Given the description of an element on the screen output the (x, y) to click on. 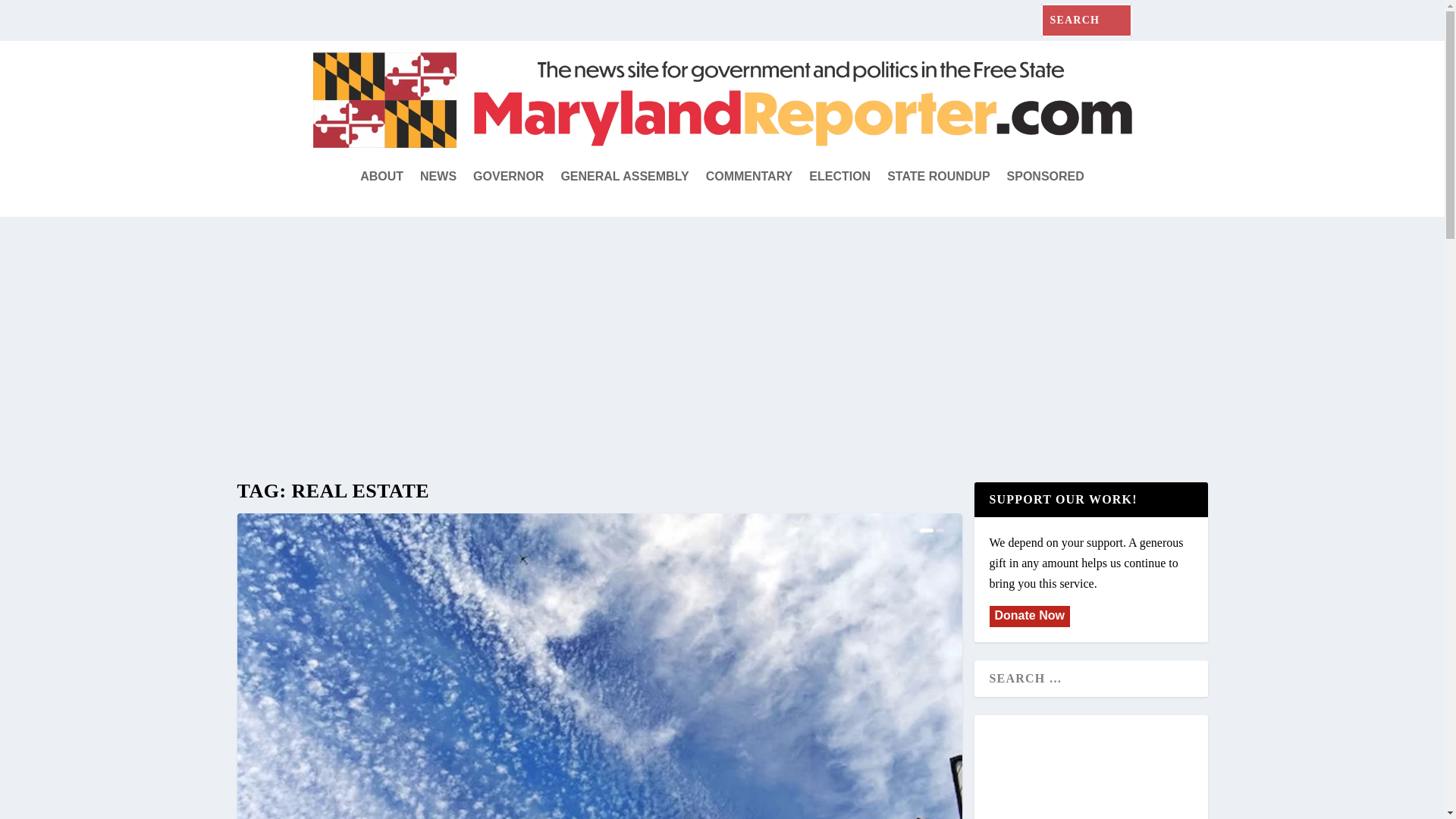
GOVERNOR (508, 176)
1 (925, 530)
GENERAL ASSEMBLY (624, 176)
SPONSORED (1045, 176)
Search (29, 16)
ABOUT (381, 176)
STATE ROUNDUP (938, 176)
ELECTION (839, 176)
NEWS (438, 176)
COMMENTARY (749, 176)
